Given the description of an element on the screen output the (x, y) to click on. 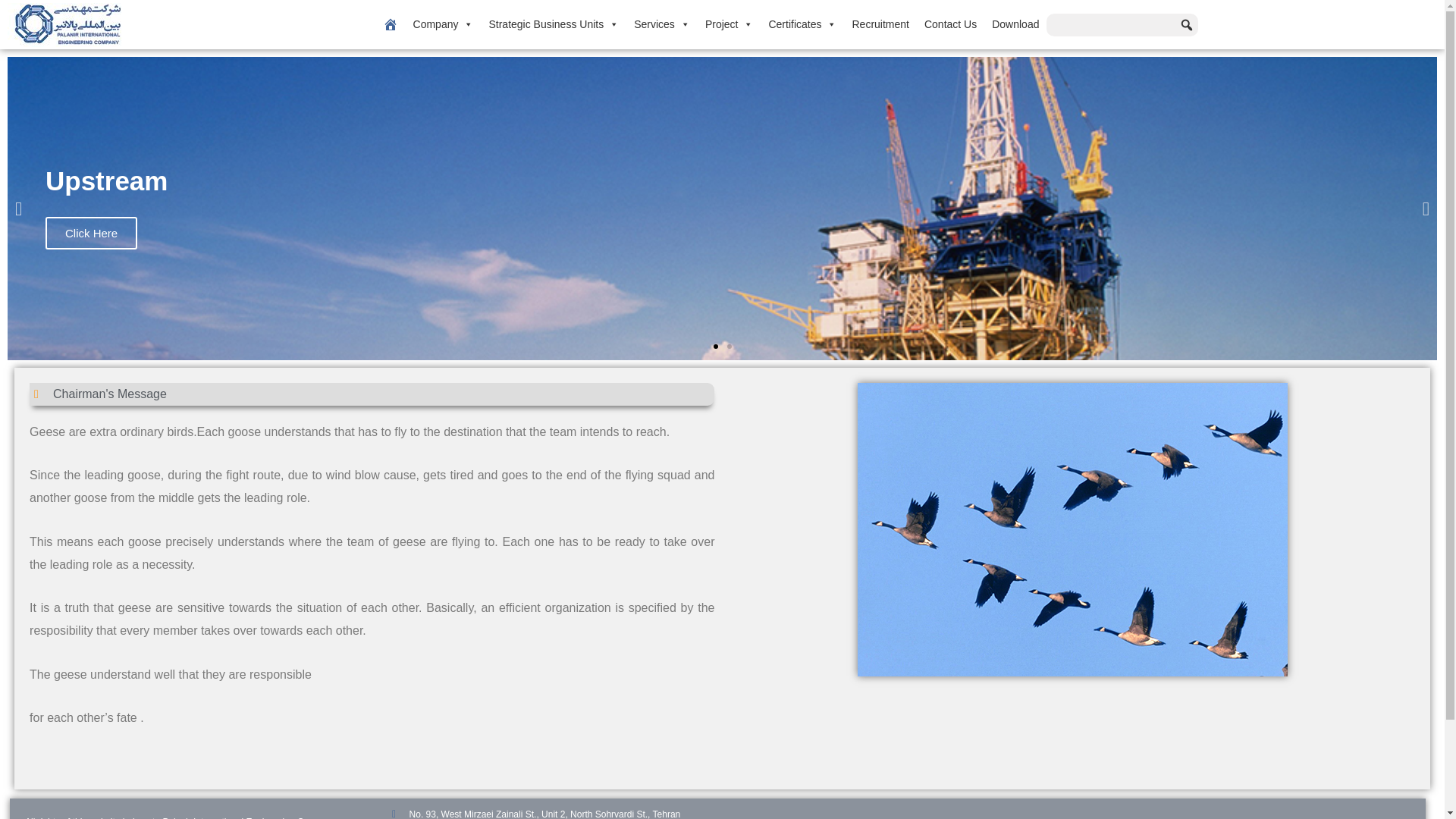
Search (42, 24)
Download (1015, 24)
Certificates (802, 24)
Recruitment (879, 24)
Services (661, 24)
Contact Us (950, 24)
Project (729, 24)
Company (443, 24)
Strategic Business Units (553, 24)
